Given the description of an element on the screen output the (x, y) to click on. 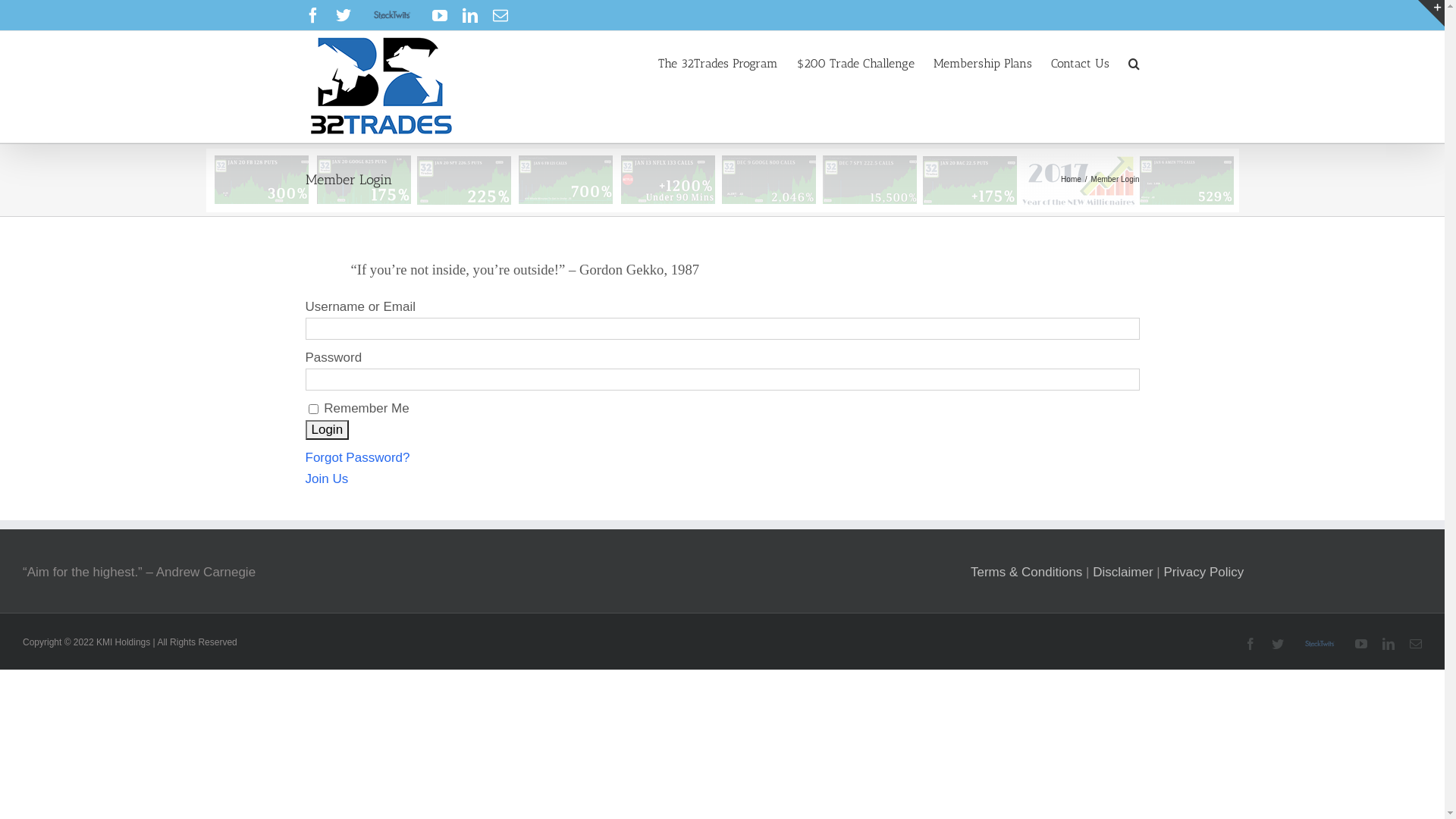
Forgot Password? Element type: text (356, 457)
Terms & Conditions Element type: text (1026, 571)
Home Element type: text (1070, 179)
The 32Trades Program Element type: text (718, 62)
Login Element type: text (326, 429)
Join Us Element type: text (326, 478)
$200 Trade Challenge Element type: text (854, 62)
Disclaimer Element type: text (1122, 571)
Privacy Policy Element type: text (1203, 571)
Membership Plans Element type: text (981, 62)
Contact Us Element type: text (1080, 62)
